Given the description of an element on the screen output the (x, y) to click on. 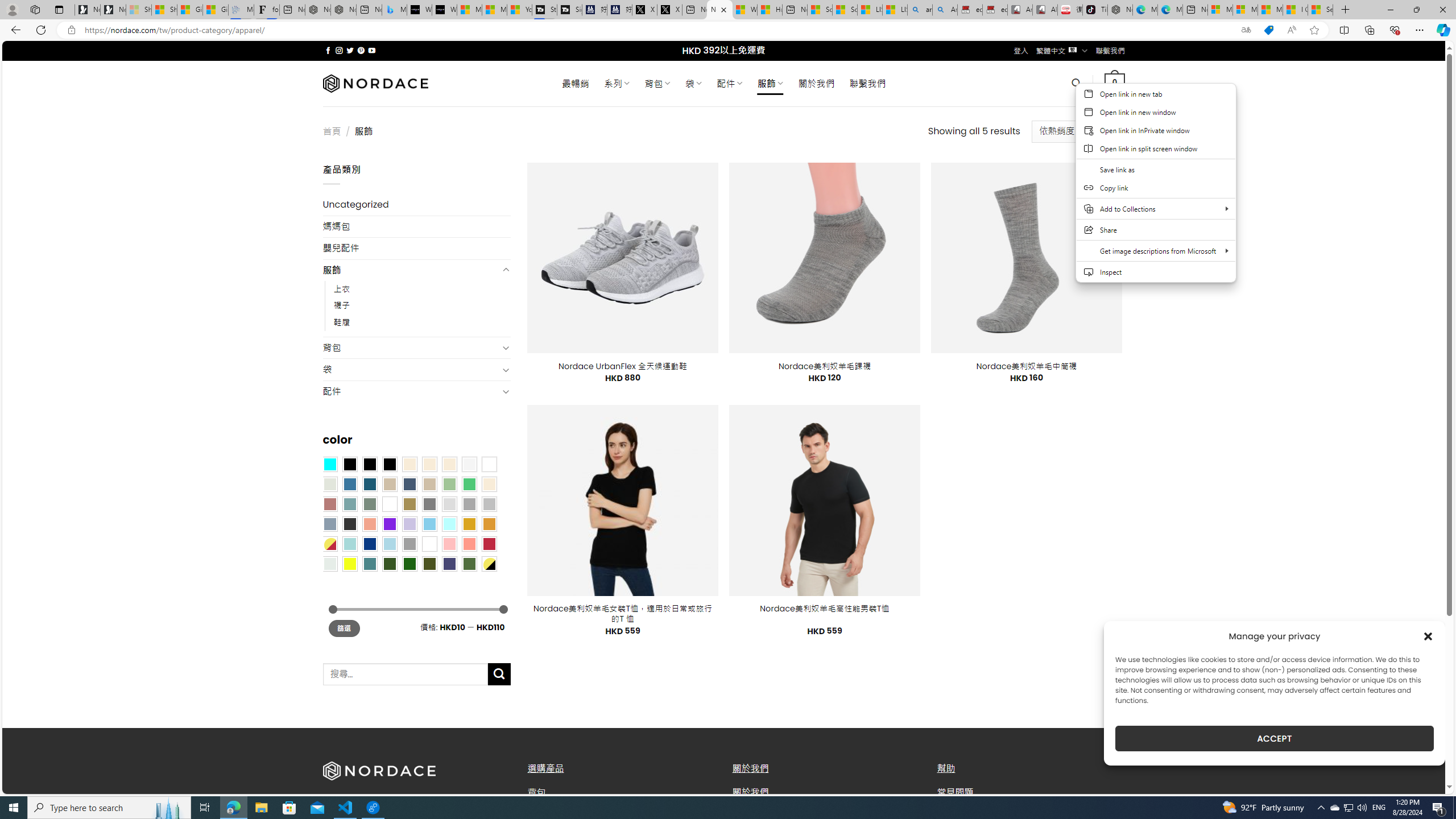
Show translate options (1245, 29)
Open link in new window (1155, 112)
